Given the description of an element on the screen output the (x, y) to click on. 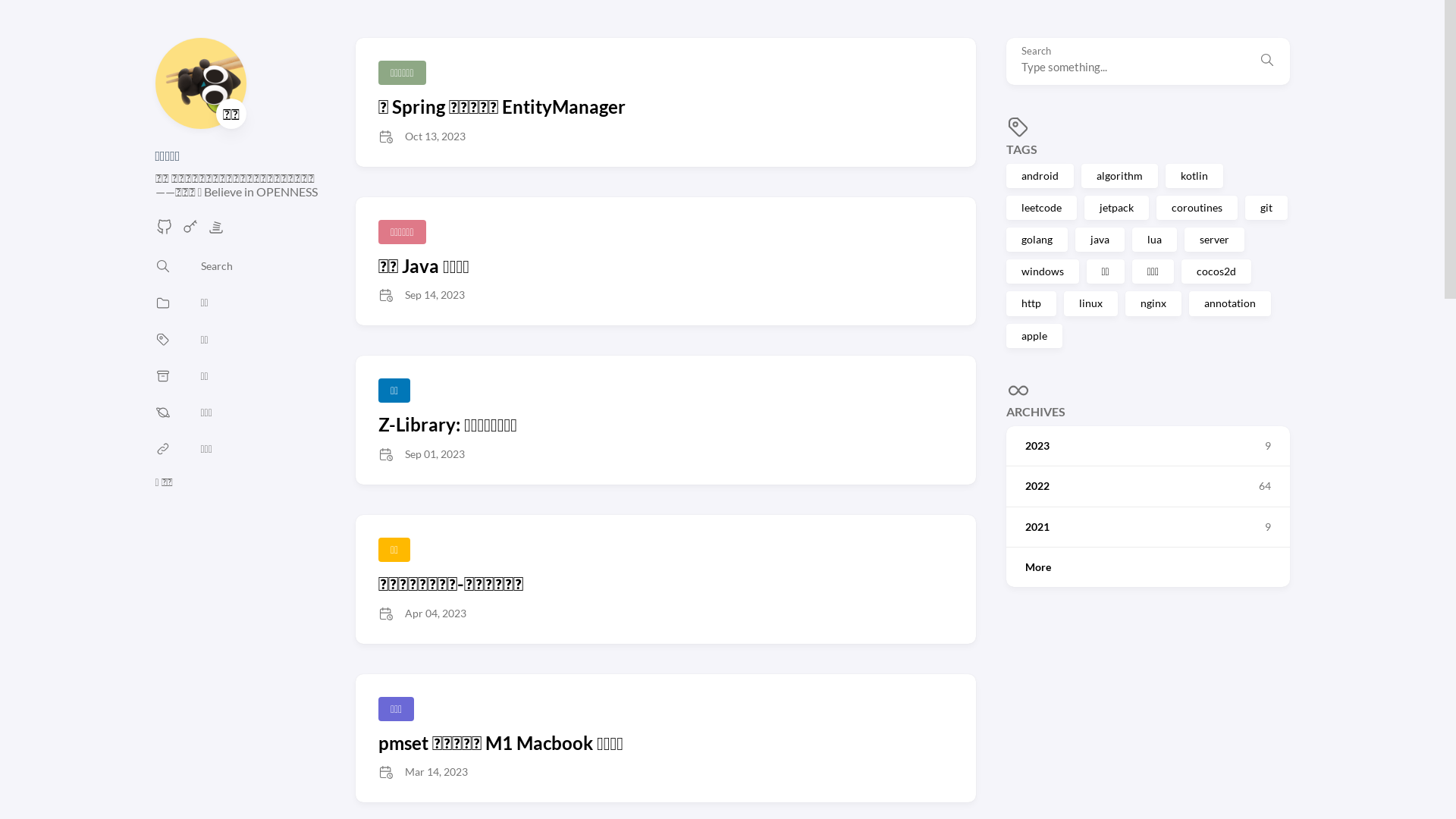
server Element type: text (1214, 239)
coroutines Element type: text (1195, 207)
linux Element type: text (1090, 303)
golang Element type: text (1035, 239)
apple Element type: text (1033, 335)
jetpack Element type: text (1116, 207)
GitHub Element type: hover (163, 230)
git Element type: text (1266, 207)
annotation Element type: text (1229, 303)
java Element type: text (1099, 239)
lua Element type: text (1153, 239)
algorithm Element type: text (1119, 175)
kotlin Element type: text (1193, 175)
nginx Element type: text (1153, 303)
StackOverflow Element type: hover (215, 230)
2023
9 Element type: text (1147, 445)
leetcode Element type: text (1040, 207)
http Element type: text (1030, 303)
Search Element type: hover (1266, 60)
Search Element type: text (193, 266)
PGP/GPG Public Key Element type: hover (189, 230)
cocos2d Element type: text (1216, 271)
android Element type: text (1039, 175)
More Element type: text (1147, 566)
2021
9 Element type: text (1147, 526)
2022
64 Element type: text (1147, 485)
windows Element type: text (1041, 271)
